Given the description of an element on the screen output the (x, y) to click on. 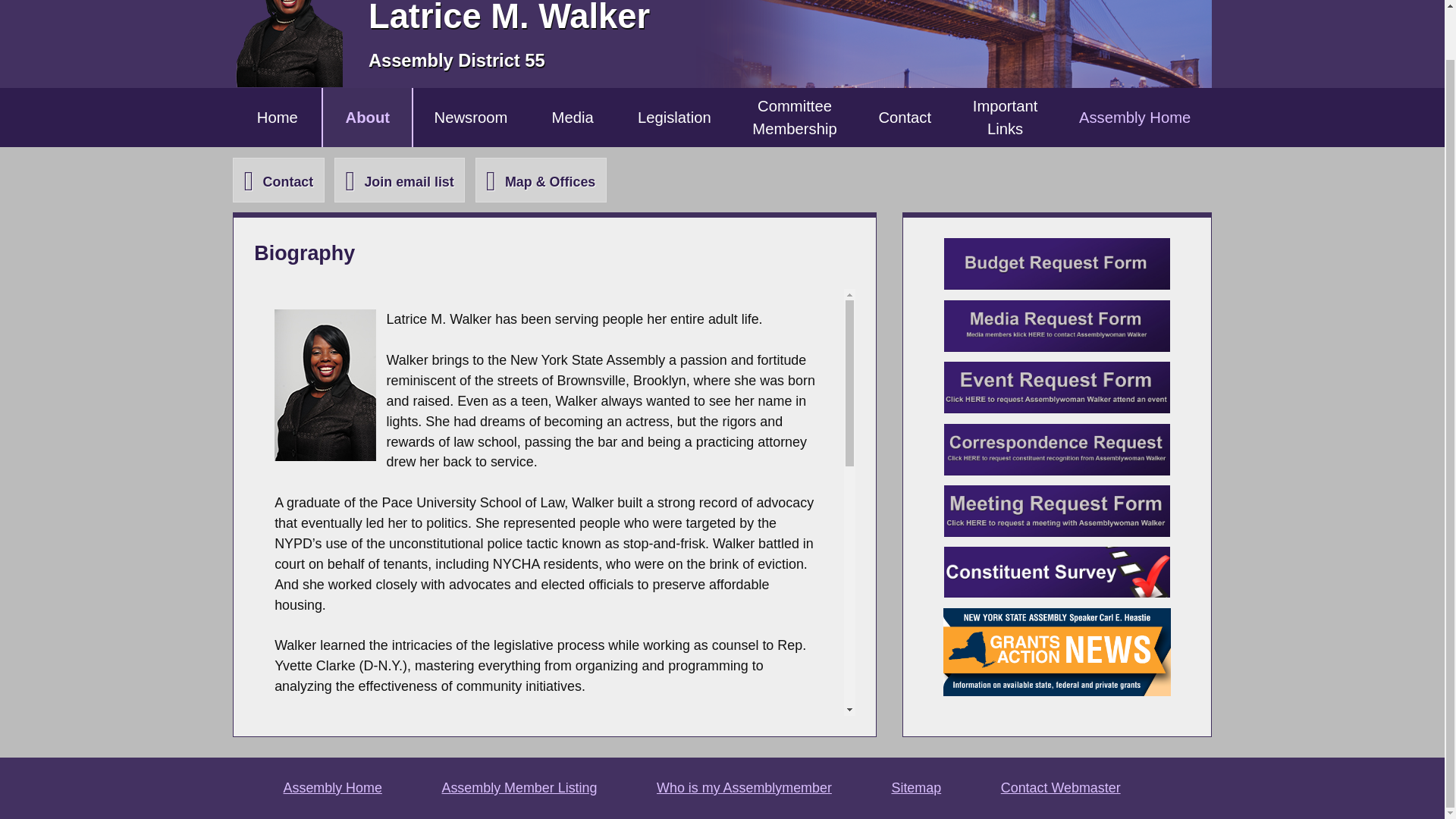
Constituent Survey (1056, 572)
Budget Request Form (794, 117)
Media Request Form (1056, 263)
Contact (1056, 326)
Contact (277, 180)
Meeting Request Form (904, 117)
About (1056, 511)
Correspondence Request Form (367, 117)
GAN (1056, 449)
Assembly Home (1056, 652)
Join email list (1134, 117)
Media (399, 180)
Event Request (572, 117)
Legislation (1056, 387)
